Given the description of an element on the screen output the (x, y) to click on. 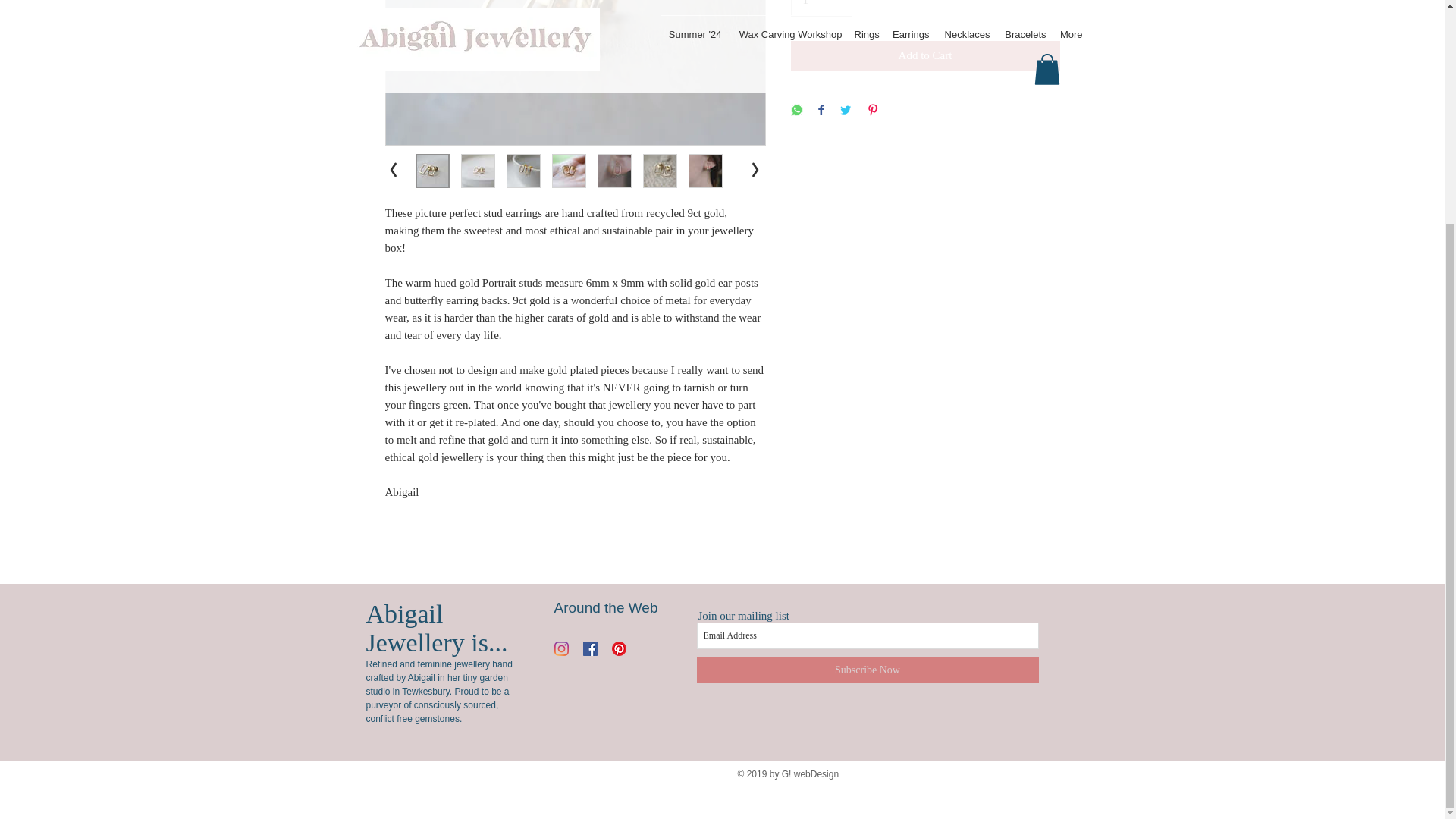
Add to Cart (924, 55)
1 (820, 8)
Subscribe Now (866, 669)
